Given the description of an element on the screen output the (x, y) to click on. 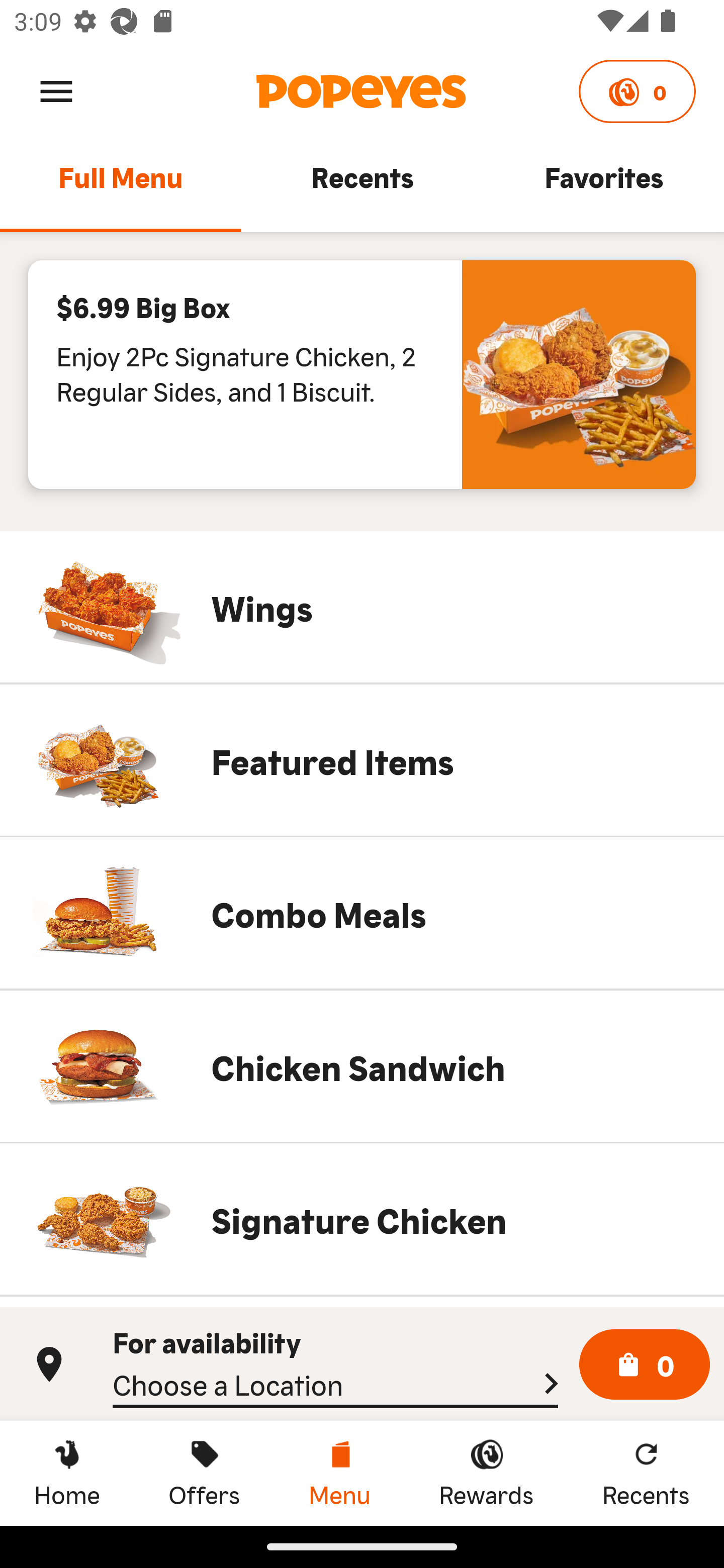
Menu  (56, 90)
0 Points 0 (636, 91)
Full Menu (120, 186)
Recents (361, 186)
Favorites (603, 186)
Wings, Wings Wings Wings (362, 606)
0 Cart total  0 (644, 1364)
Home Home Home (66, 1472)
Offers Offers Offers (203, 1472)
Menu, current page Menu Menu, current page (339, 1472)
Rewards Rewards Rewards (486, 1472)
Recents Recents Recents (646, 1472)
